Given the description of an element on the screen output the (x, y) to click on. 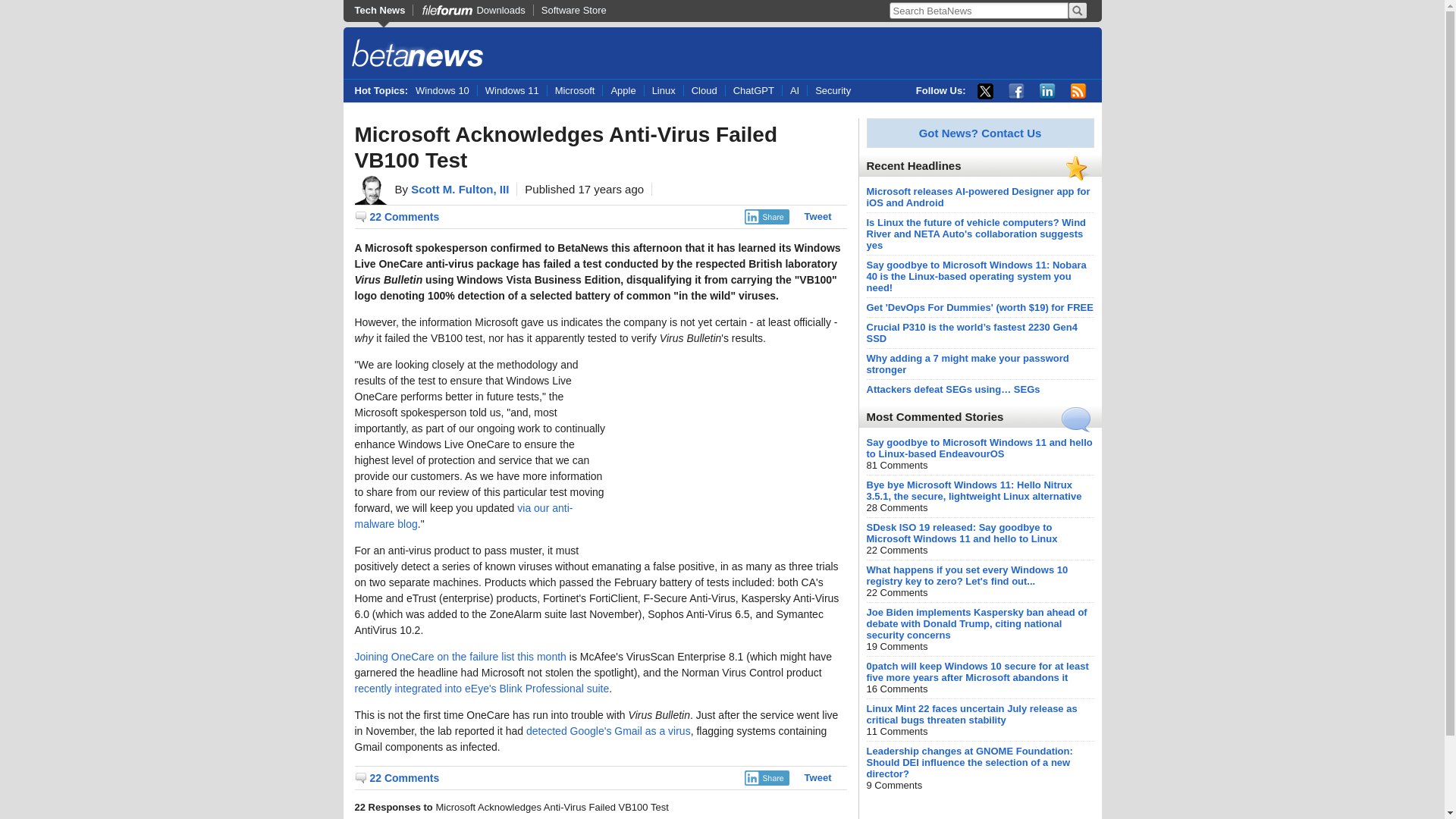
RSS (1078, 91)
Twitter (984, 91)
Facebook (1017, 91)
Twitter (984, 91)
Microsoft (574, 90)
Linked-in (1046, 91)
Facebook (1017, 91)
Share (766, 777)
Tweet (818, 777)
Tweet (818, 215)
Joining OneCare on the failure list this month (460, 656)
Software Store (573, 9)
recently integrated into eEye's Blink Professional suite (482, 688)
